Given the description of an element on the screen output the (x, y) to click on. 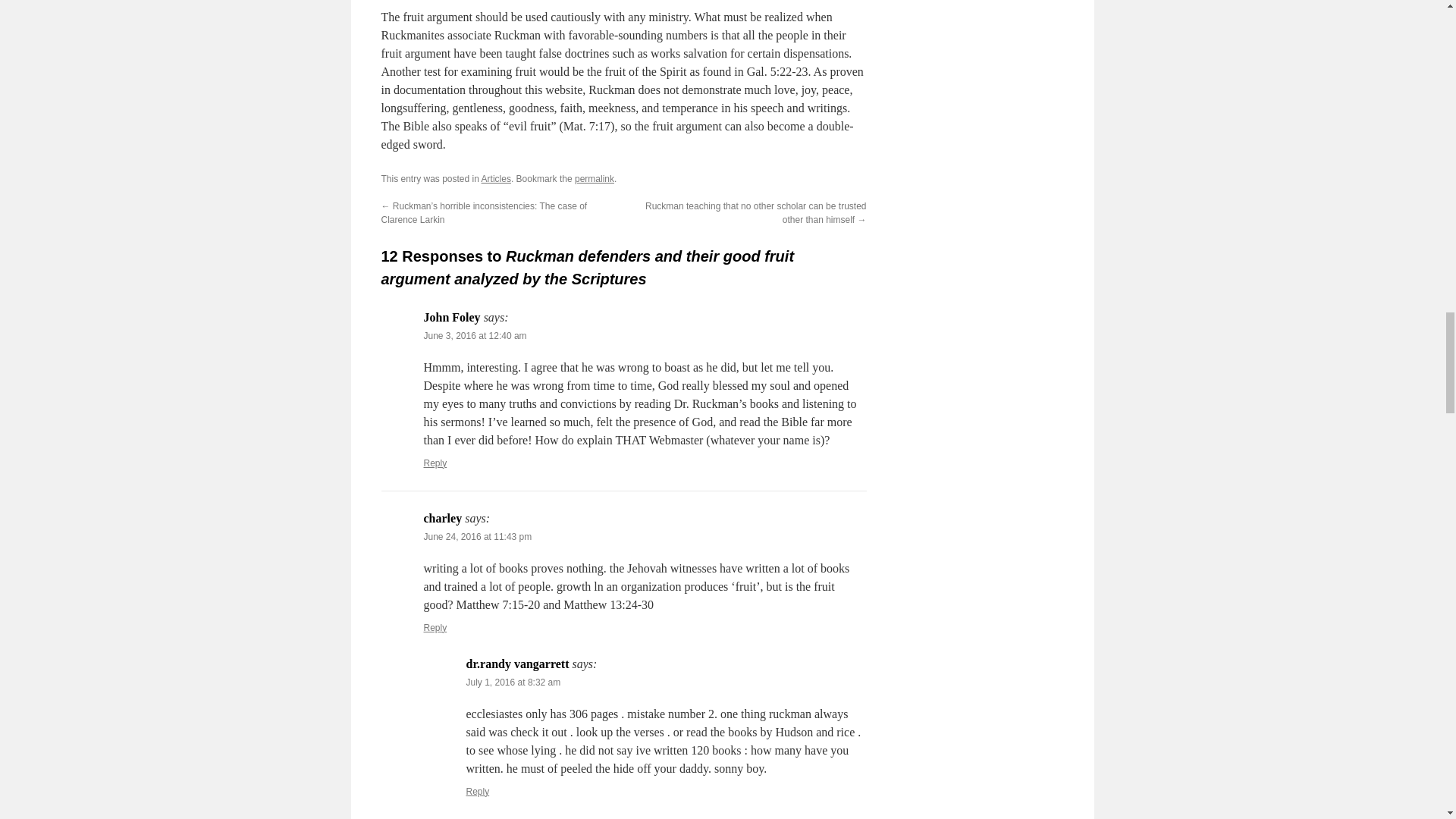
June 3, 2016 at 12:40 am (474, 335)
Articles (496, 178)
Reply (434, 627)
July 1, 2016 at 8:32 am (512, 682)
Reply (434, 462)
Reply (477, 791)
permalink (594, 178)
June 24, 2016 at 11:43 pm (477, 536)
